Given the description of an element on the screen output the (x, y) to click on. 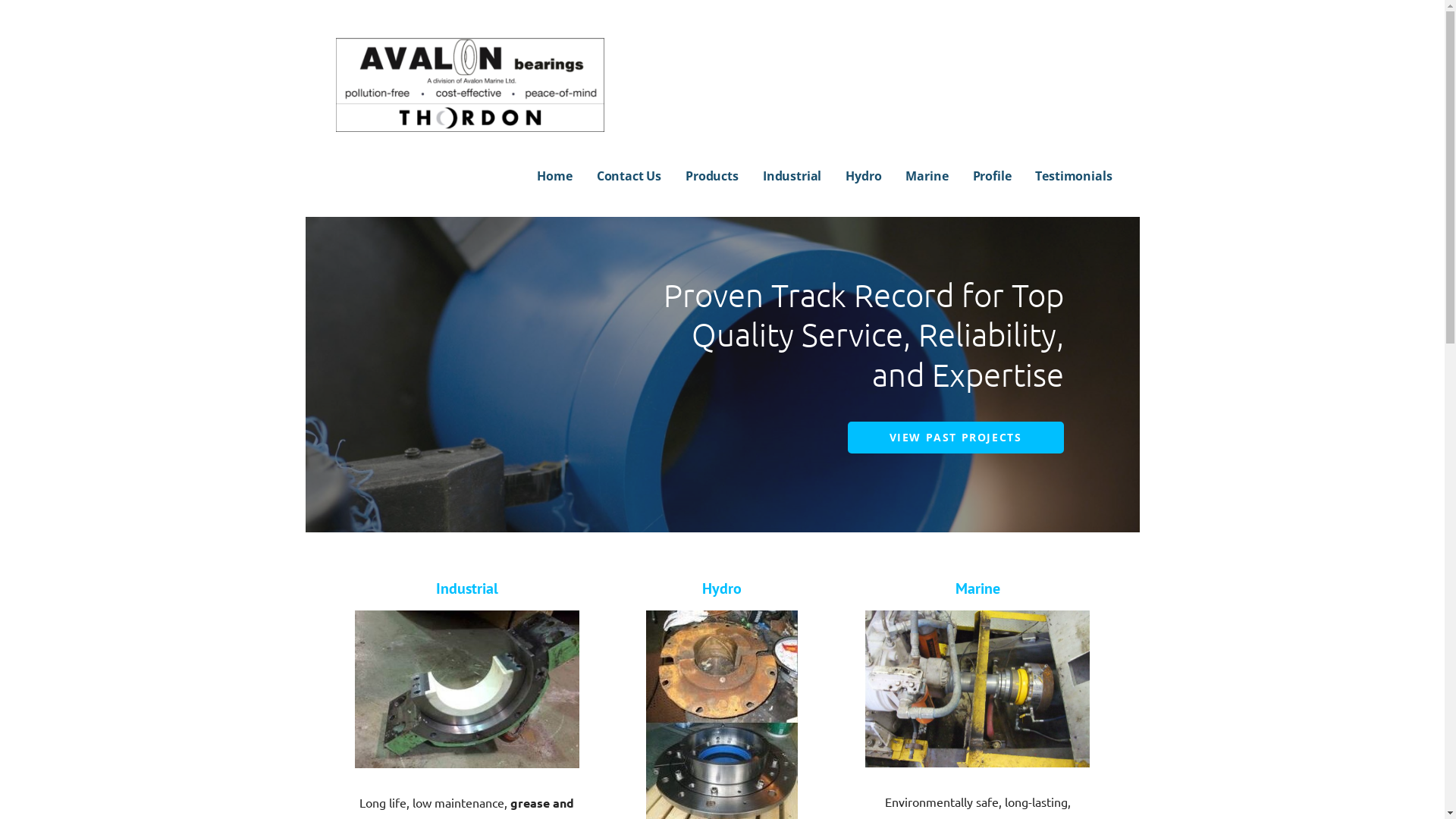
Testimonials Element type: text (1073, 176)
Contact Us Element type: text (628, 176)
Hydro Element type: text (863, 176)
Avalon Bearings Element type: text (440, 146)
Marine Element type: text (977, 588)
VIEW PAST PROJECTS Element type: text (955, 437)
Industrial Element type: text (791, 176)
Hydro Element type: text (721, 588)
Industrial Element type: text (467, 588)
Home Element type: text (553, 176)
Products Element type: text (711, 176)
Profile Element type: text (991, 176)
Marine Element type: text (926, 176)
